Given the description of an element on the screen output the (x, y) to click on. 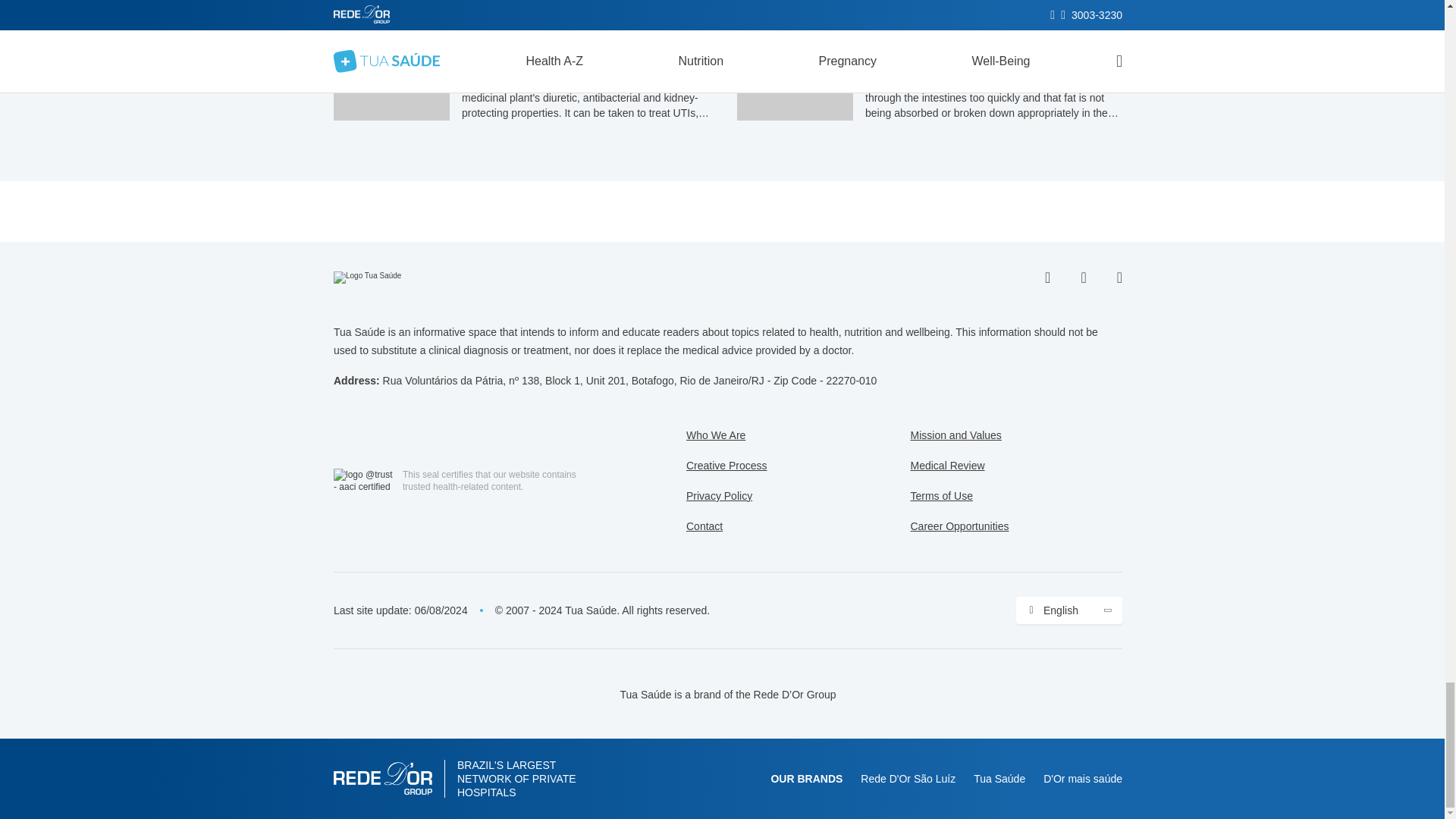
Contact (703, 526)
Terms of Use (941, 495)
Privacy Policy (718, 495)
Mission and Values (955, 435)
Who We Are (715, 435)
Creative Process (726, 465)
Medical Review (947, 465)
Career Opportunities (959, 526)
